Given the description of an element on the screen output the (x, y) to click on. 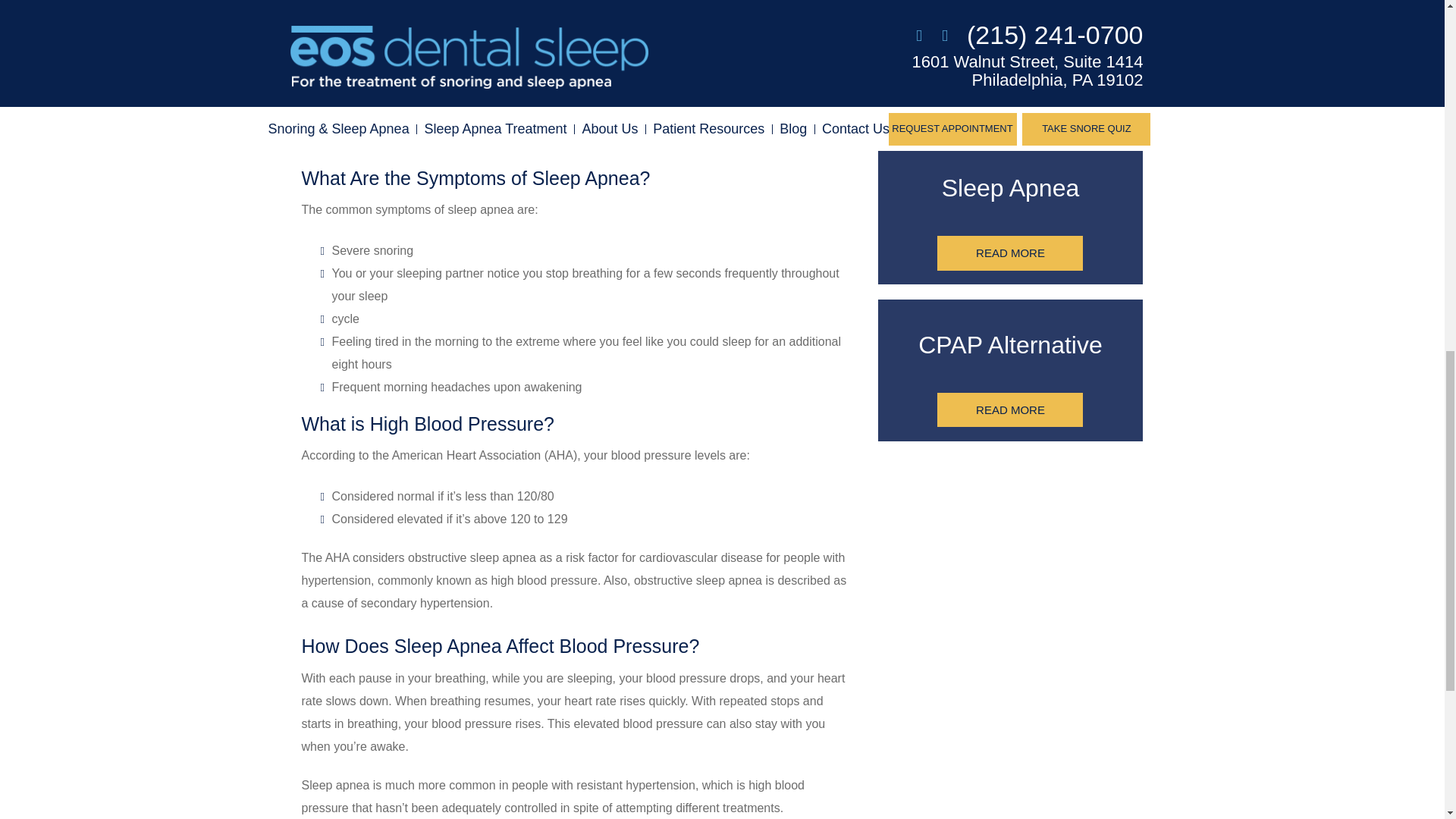
READ MORE (1010, 252)
READ MORE (1010, 96)
READ MORE (1010, 409)
